Given the description of an element on the screen output the (x, y) to click on. 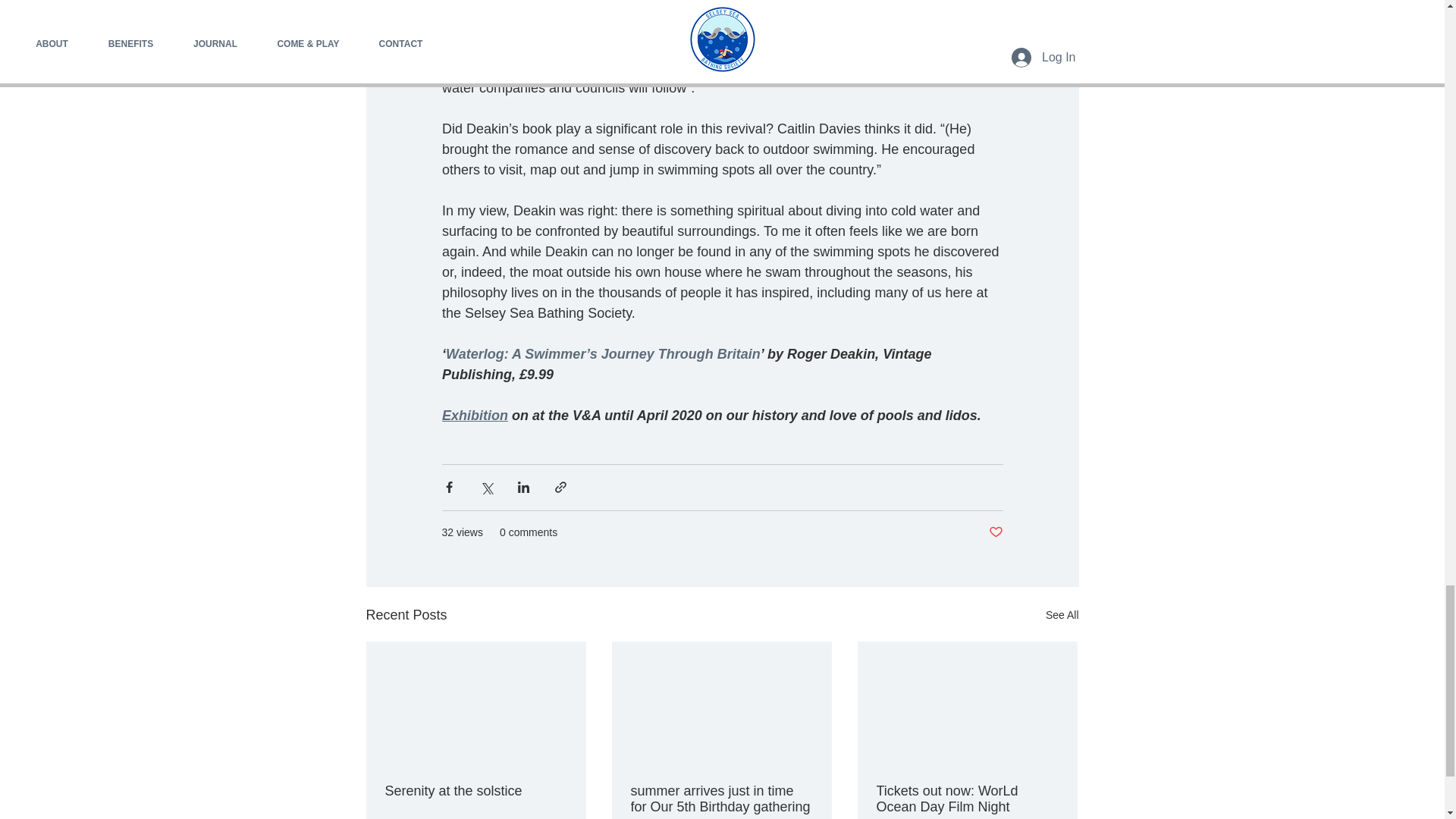
See All (1061, 614)
Exhibition (473, 415)
Serenity at the solstice (476, 790)
Tickets out now: WorLd Ocean Day Film Night (967, 798)
summer arrives just in time for Our 5th Birthday gathering (721, 798)
Post not marked as liked (995, 532)
